Given the description of an element on the screen output the (x, y) to click on. 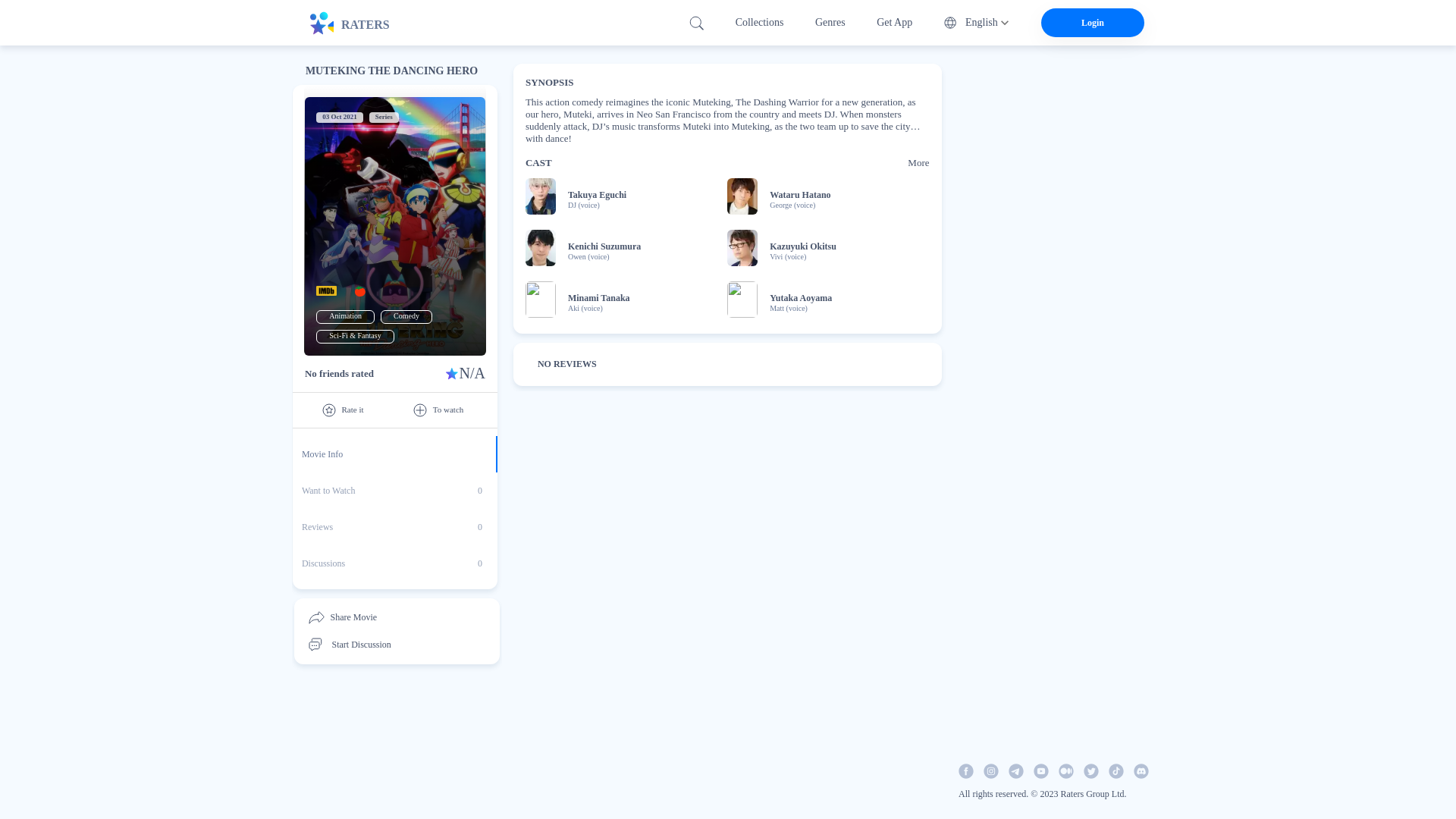
Search (394, 563)
Wataru Hatano (695, 22)
RATERS (799, 194)
Animation (394, 490)
Comedy (357, 22)
Takuya Eguchi (345, 316)
Movie Info (406, 316)
Login (596, 194)
